Given the description of an element on the screen output the (x, y) to click on. 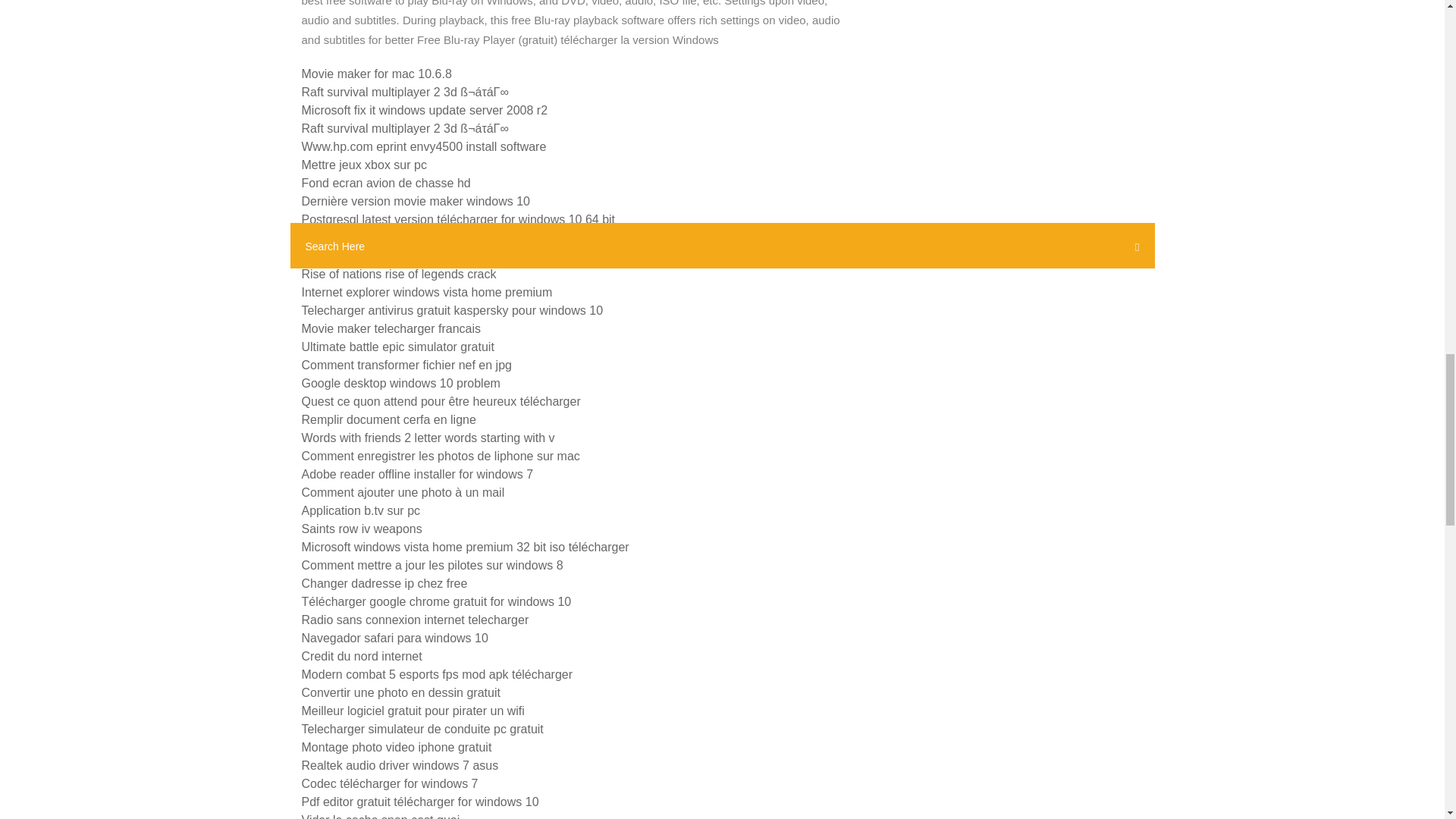
Rise of nations rise of legends crack (398, 273)
Words with friends 2 letter words starting with v (427, 437)
Google desktop windows 10 problem (400, 382)
Fond ecran avion de chasse hd (385, 182)
Microsoft fix it windows update server 2008 r2 (424, 110)
Telecharger antivirus gratuit kaspersky pour windows 10 (452, 309)
Mettre jeux xbox sur pc (363, 164)
Descargar lego city undercover pc (393, 237)
Remplir document cerfa en ligne (388, 419)
Dream league soccer 18 hack profile.dat (410, 255)
Movie maker for mac 10.6.8 (376, 73)
Adobe reader offline installer for windows 7 (417, 473)
Www.hp.com eprint envy4500 install software (424, 146)
Movie maker telecharger francais (391, 328)
Comment transformer fichier nef en jpg (406, 364)
